Given the description of an element on the screen output the (x, y) to click on. 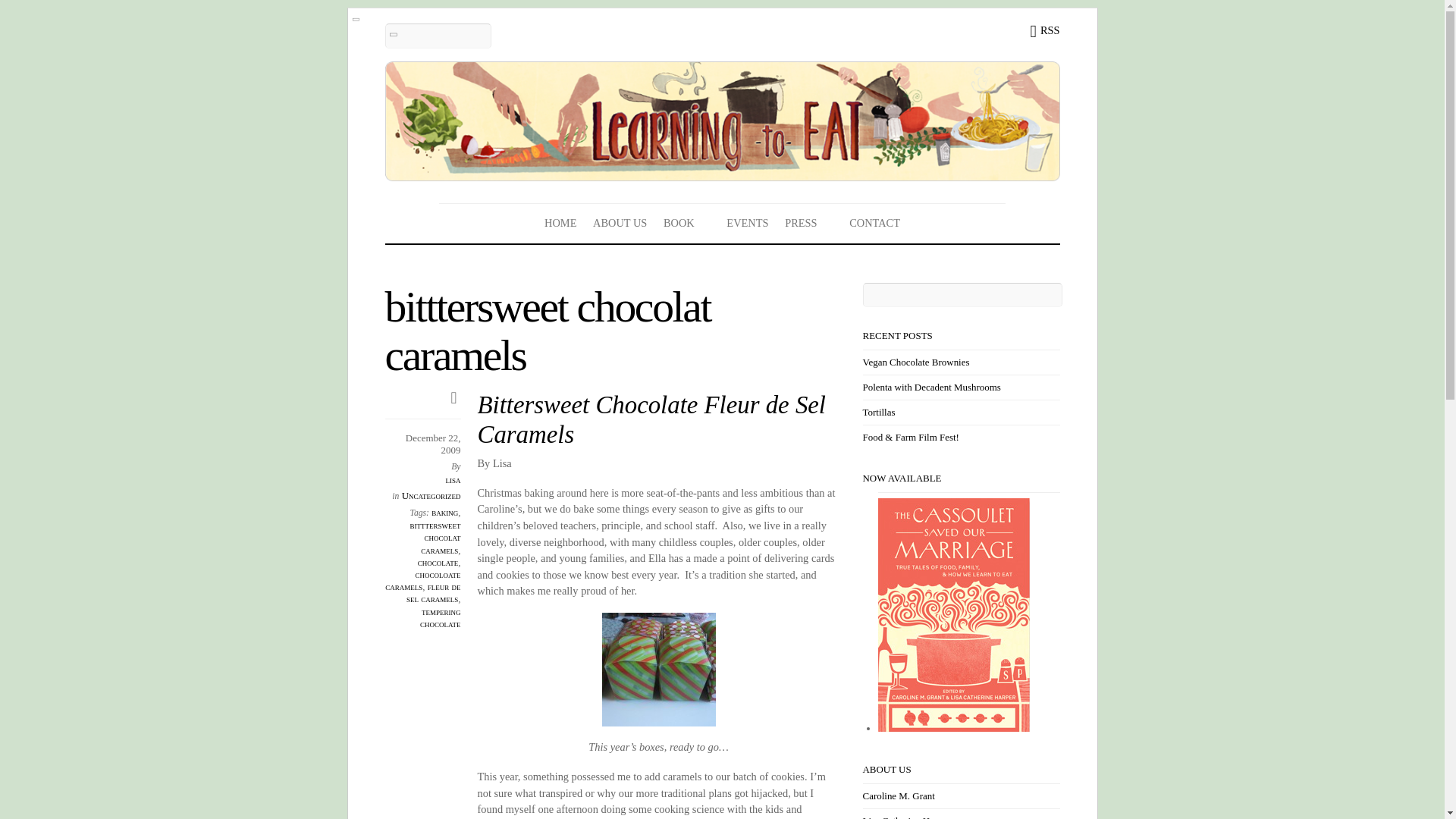
Learning to Eat (722, 120)
tempering chocolate (440, 617)
fleur de sel caramels (433, 592)
chocolate (437, 562)
PRESS (807, 222)
ABOUT US (619, 222)
Bittersweet Chocolate Fleur de Sel Caramels (651, 419)
Search (438, 35)
Uncategorized (431, 495)
CONTACT (874, 222)
